Given the description of an element on the screen output the (x, y) to click on. 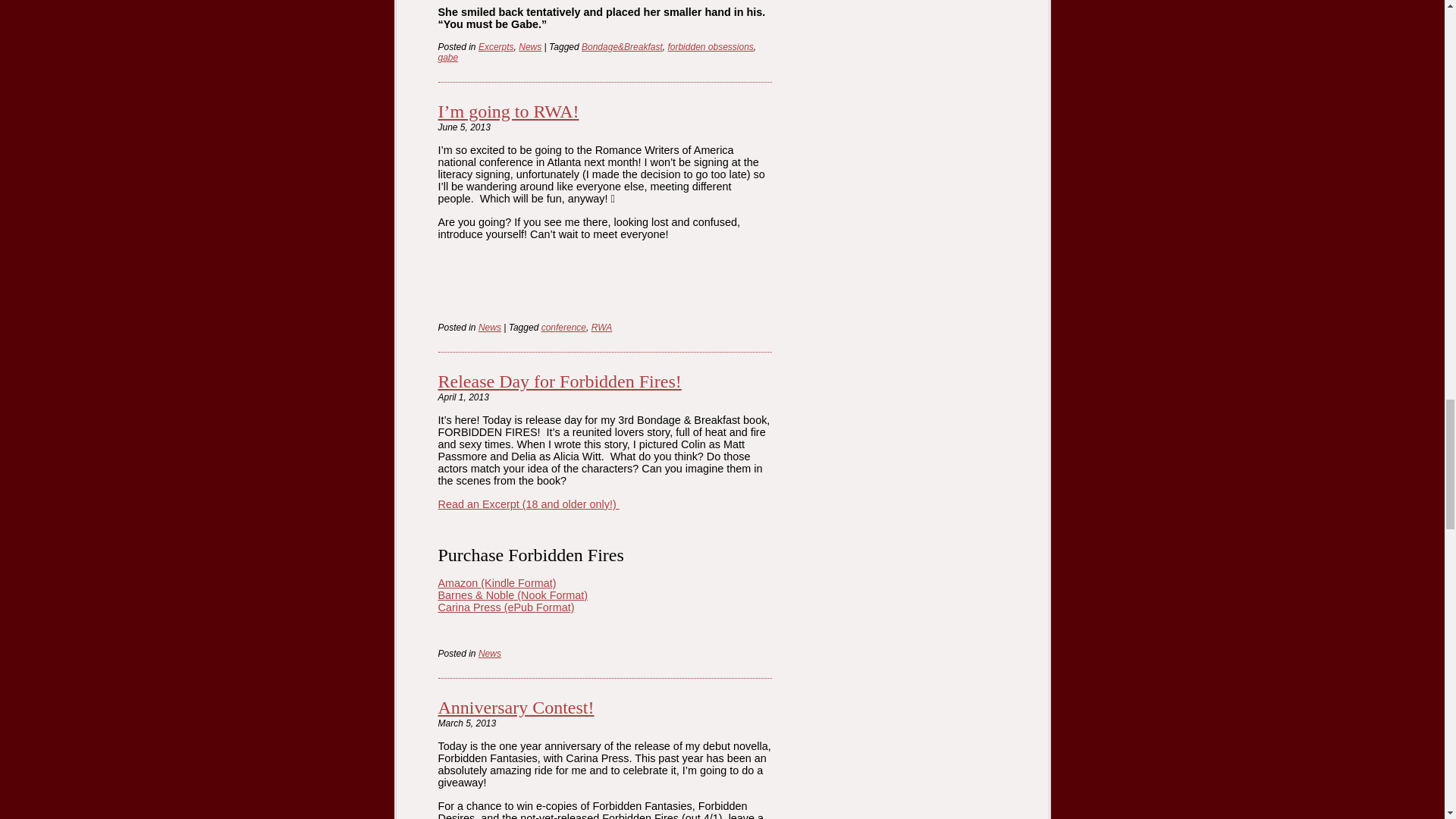
RWA (601, 327)
Permalink to Release Day for Forbidden Fires! (559, 381)
News (489, 653)
Anniversary Contest! (516, 707)
Release Day for Forbidden Fires! (559, 381)
Permalink to Anniversary Contest! (516, 707)
News (529, 46)
forbidden obsessions (709, 46)
News (489, 327)
Excerpts (496, 46)
conference (563, 327)
gabe (448, 57)
